Given the description of an element on the screen output the (x, y) to click on. 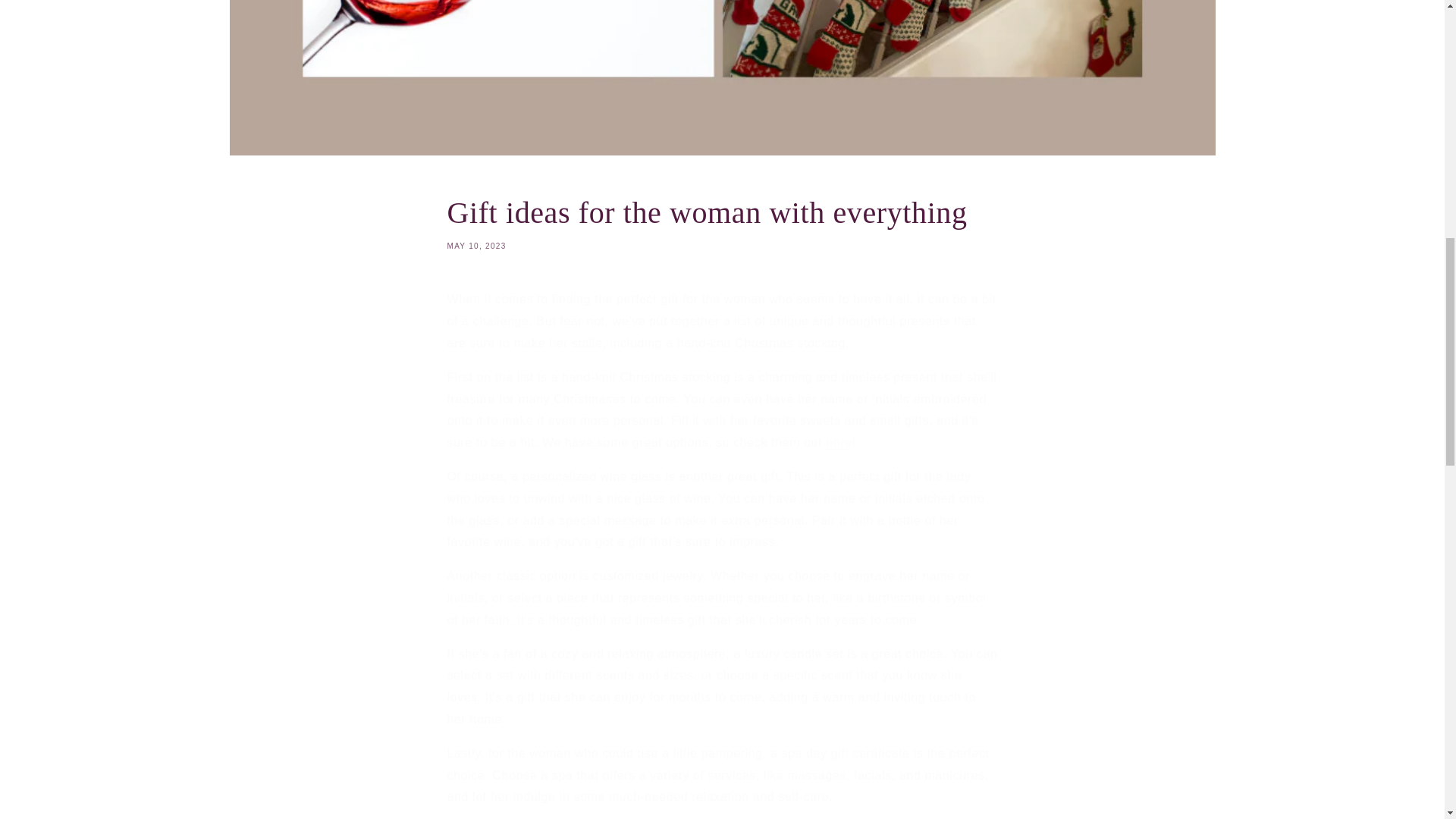
Handknit Christmas Stockings by Engineered Artistry (721, 221)
